Given the description of an element on the screen output the (x, y) to click on. 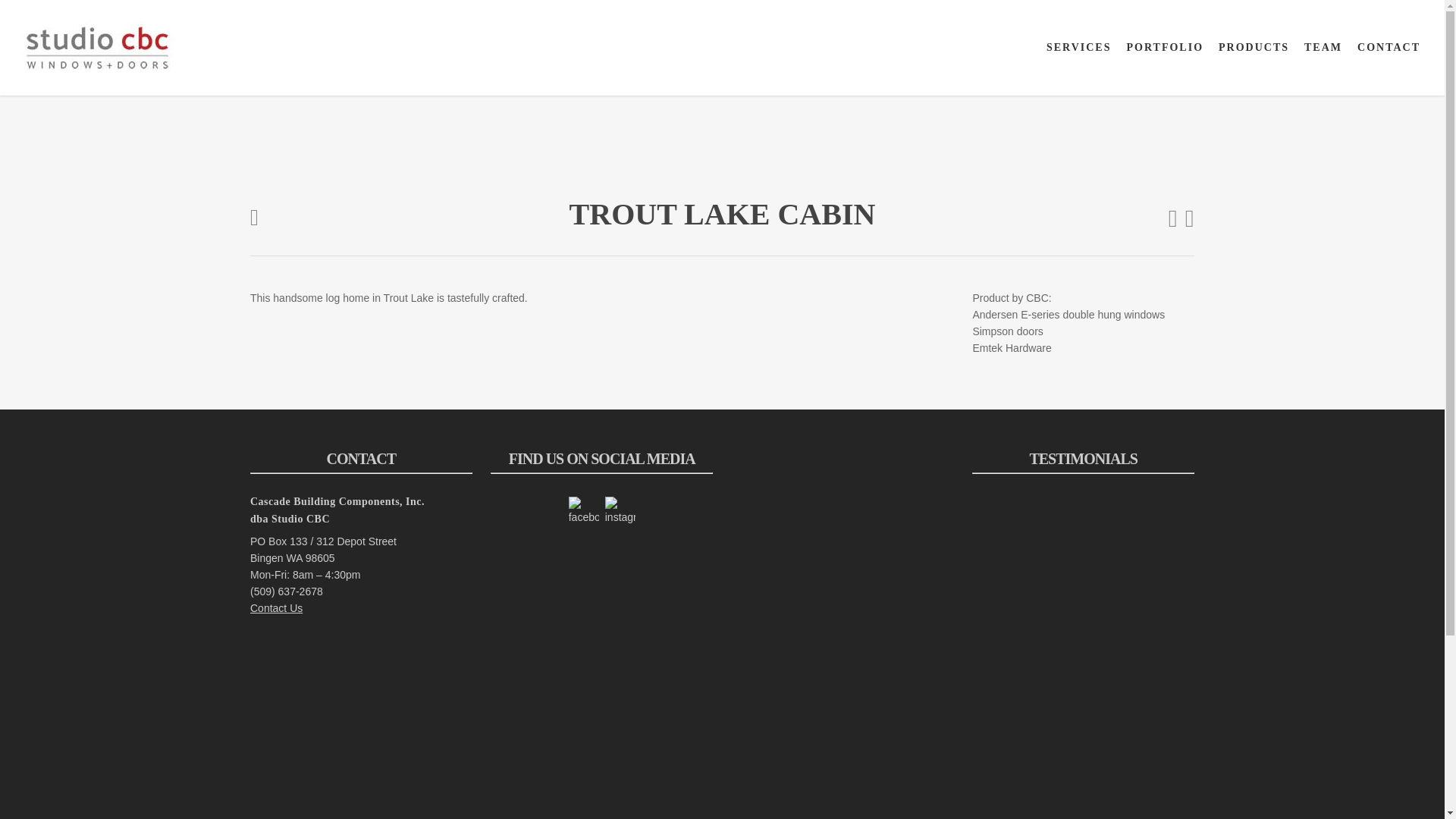
PORTFOLIO (1165, 47)
CONTACT (1388, 47)
SERVICES (1079, 47)
PRODUCTS (1254, 47)
